Given the description of an element on the screen output the (x, y) to click on. 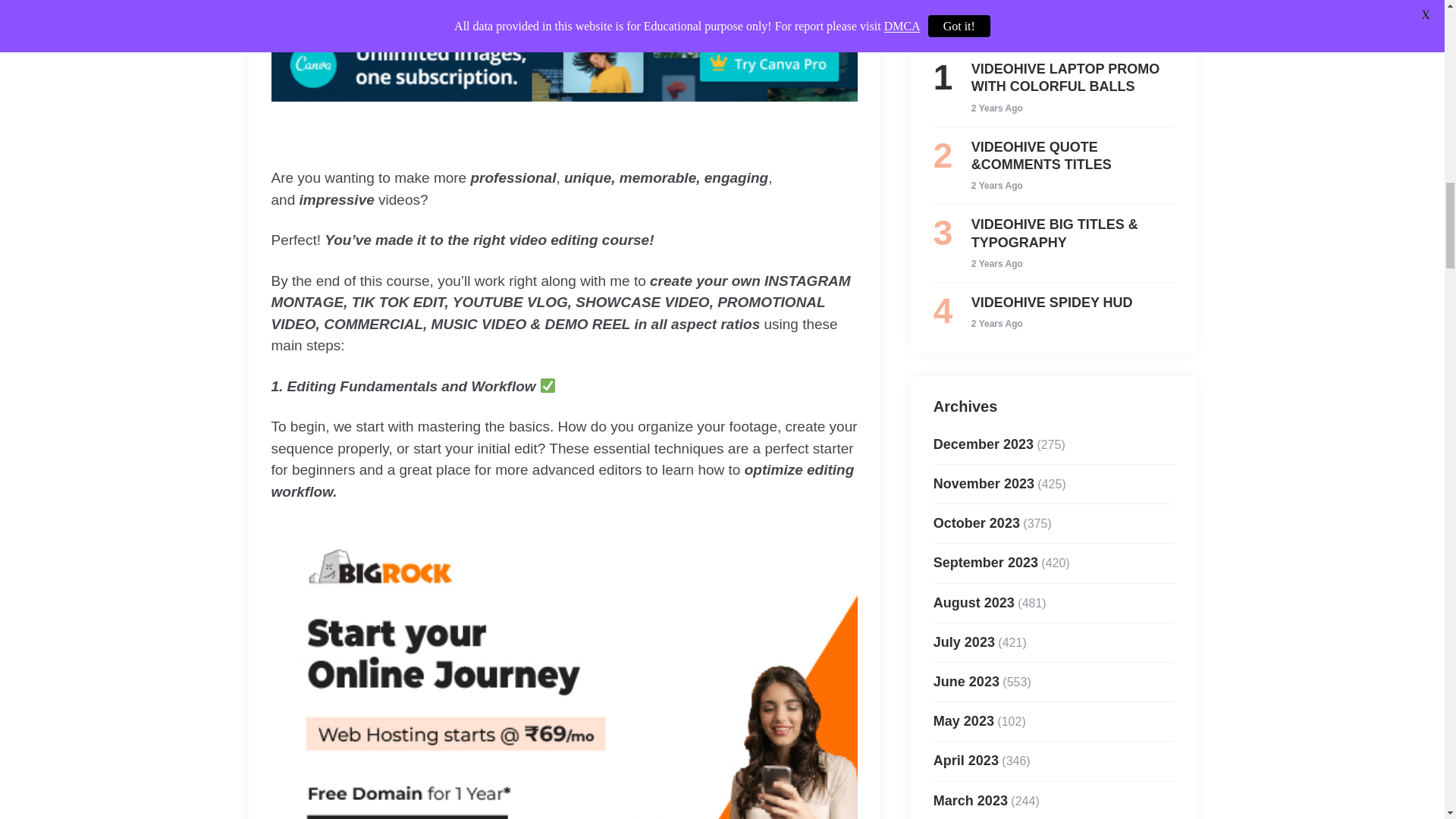
Video Editing Masterclass: Edit Your Videos Like a Pro! 84 (563, 63)
